Given the description of an element on the screen output the (x, y) to click on. 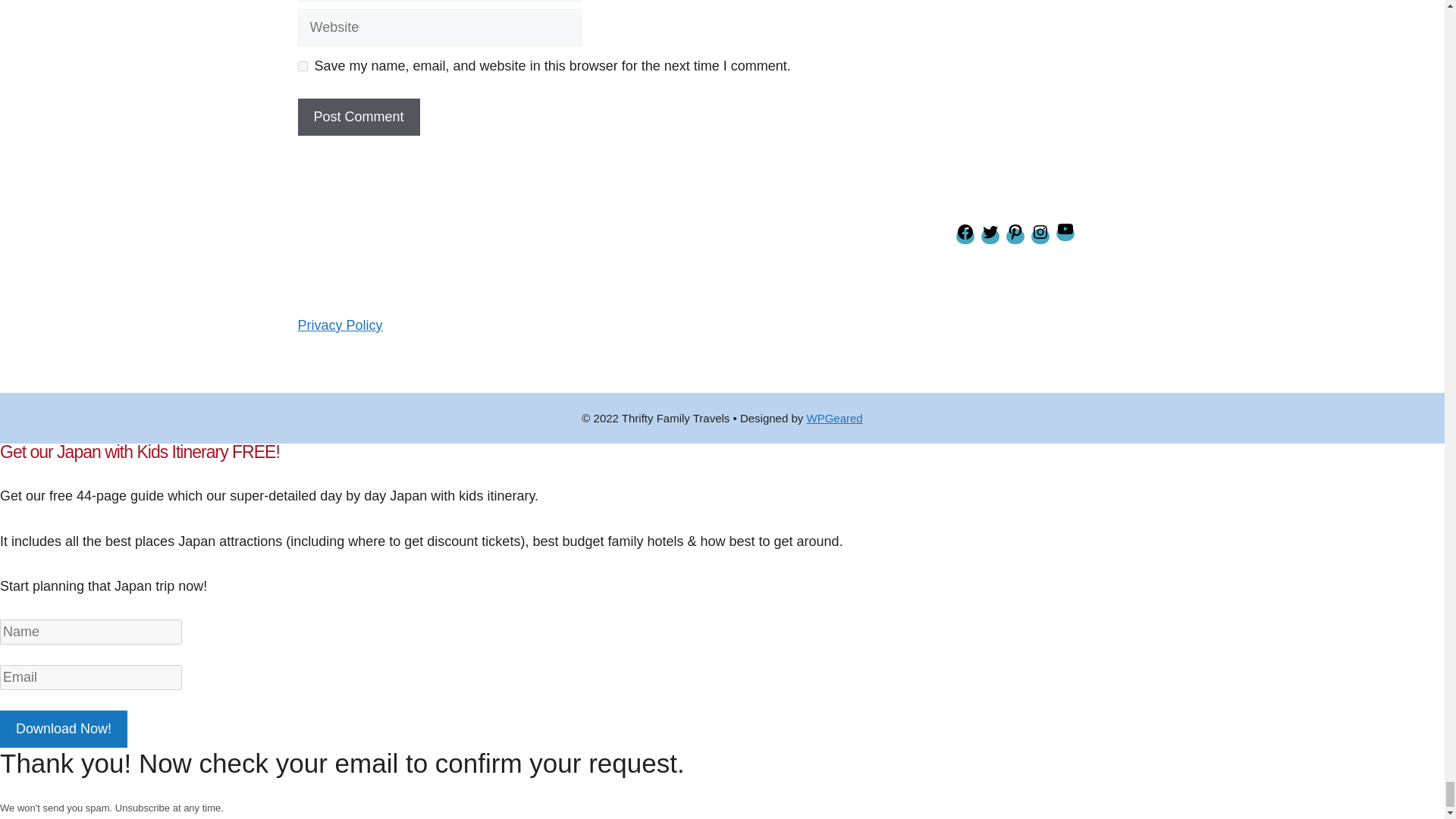
yes (302, 66)
Post Comment (358, 116)
